Given the description of an element on the screen output the (x, y) to click on. 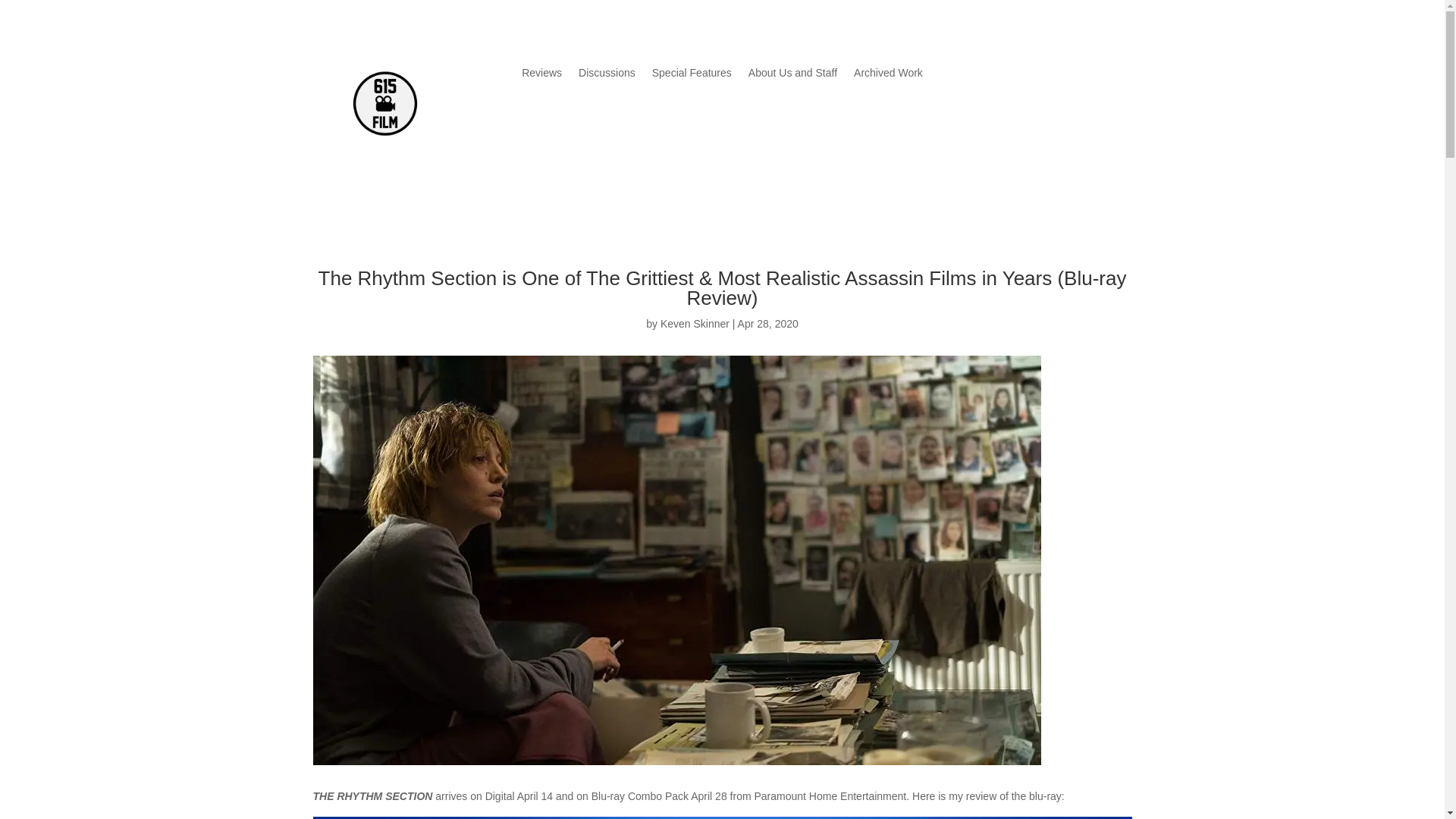
About Us and Staff (792, 75)
615-film-logo-with-fill (385, 103)
Follow on Twitter (999, 73)
Special Features (692, 75)
Discussions (606, 75)
Keven Skinner (695, 323)
Posts by Keven Skinner (695, 323)
Archived Work (888, 75)
Reviews (541, 75)
